Given the description of an element on the screen output the (x, y) to click on. 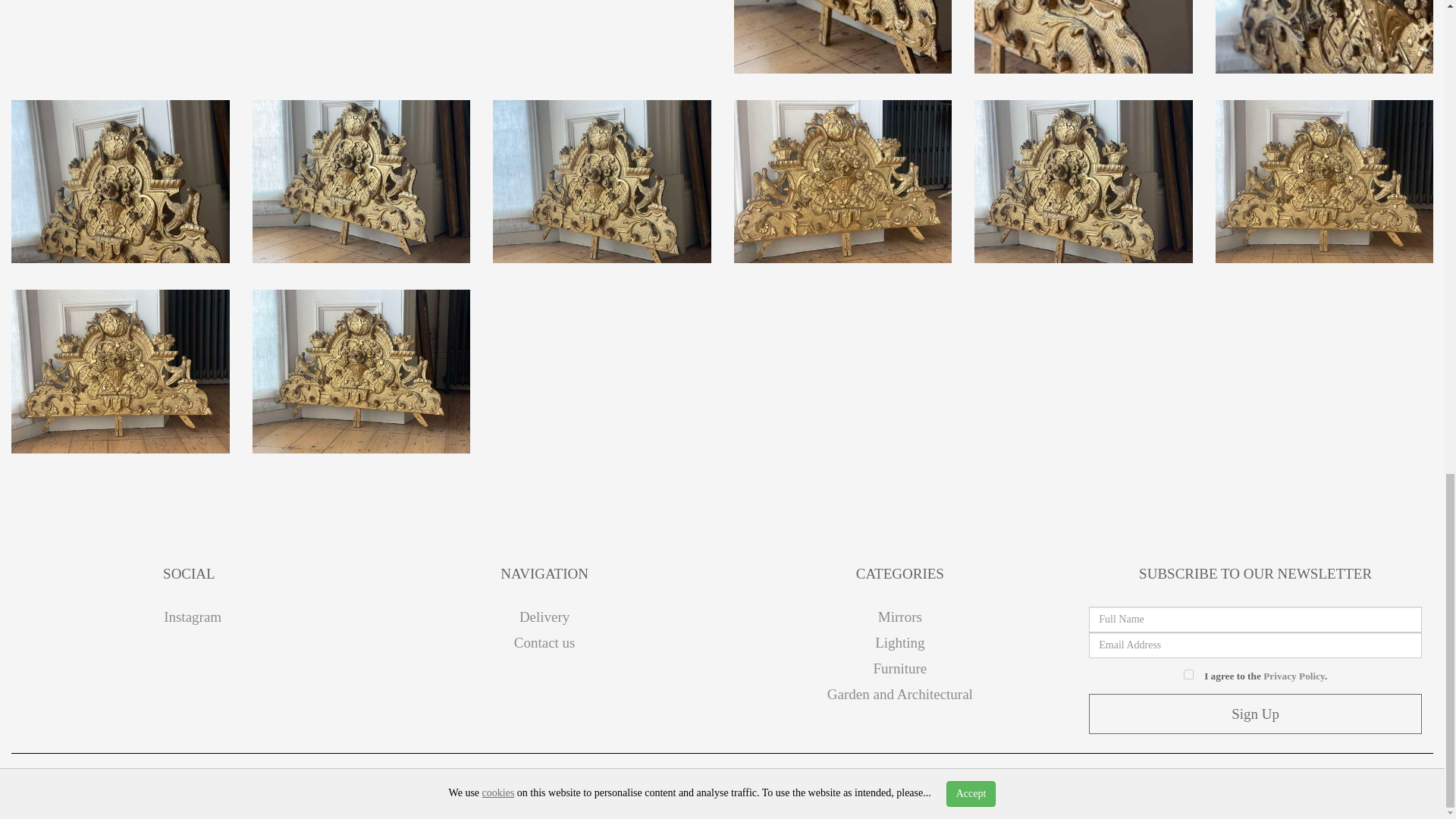
Privacy (698, 782)
Privacy Policy (1293, 675)
Furniture (900, 668)
Sign Up (1255, 713)
Mirrors (899, 616)
on (1188, 674)
  Instagram (189, 616)
Terms (748, 782)
Antiques (371, 782)
ph9 web design (291, 782)
Contact us (544, 642)
Antiques website design (153, 782)
Delivery (544, 616)
Garden and Architectural (899, 693)
Lighting (899, 642)
